Given the description of an element on the screen output the (x, y) to click on. 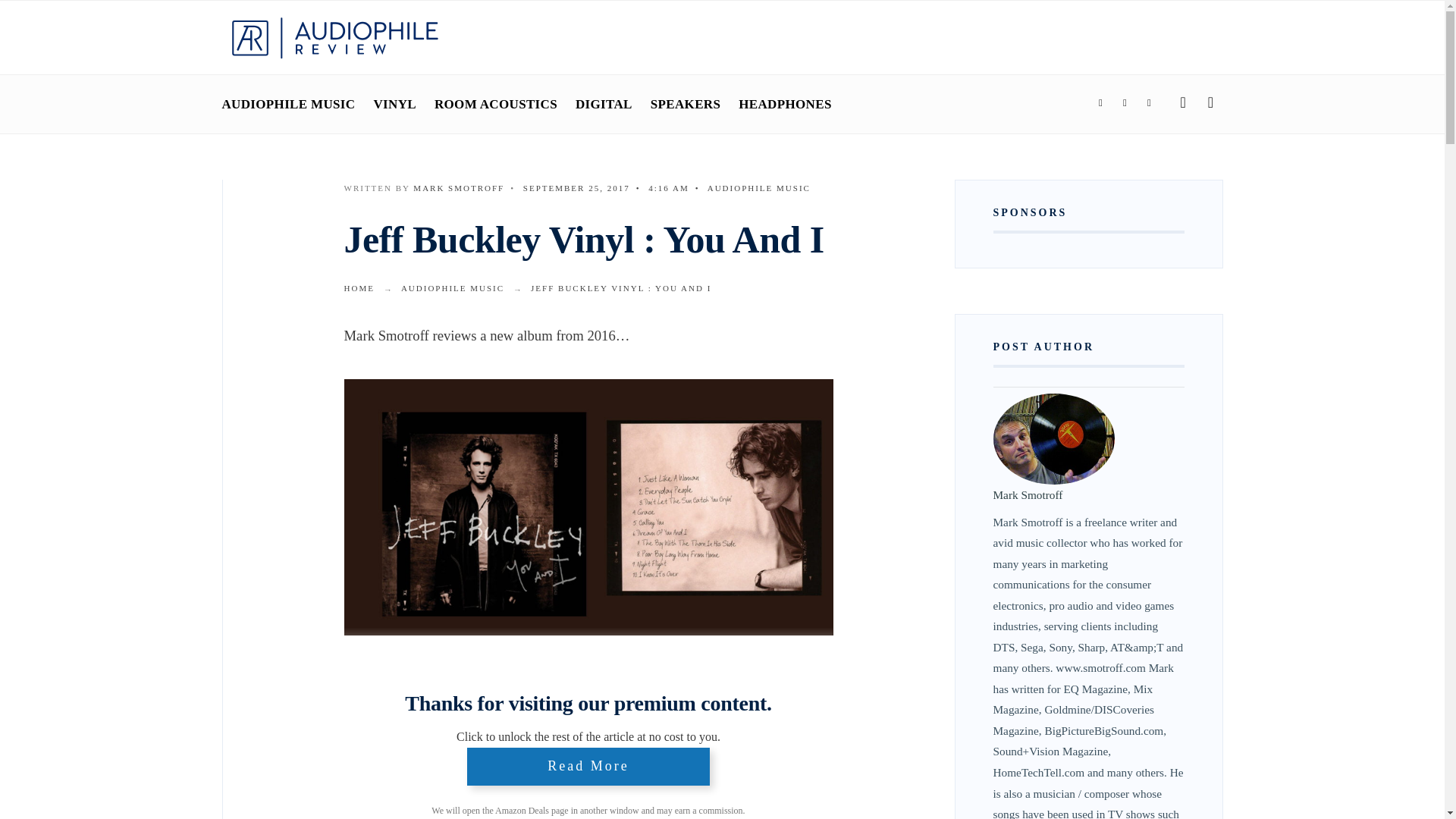
MARK SMOTROFF (458, 187)
Twitter (1124, 103)
Facebook (1099, 103)
AUDIOPHILE MUSIC (452, 287)
AUDIOPHILE MUSIC (288, 104)
AUDIOPHILE MUSIC (758, 187)
VINYL (394, 104)
HEADPHONES (784, 104)
Instagram (1148, 103)
ROOM ACOUSTICS (495, 104)
